Given the description of an element on the screen output the (x, y) to click on. 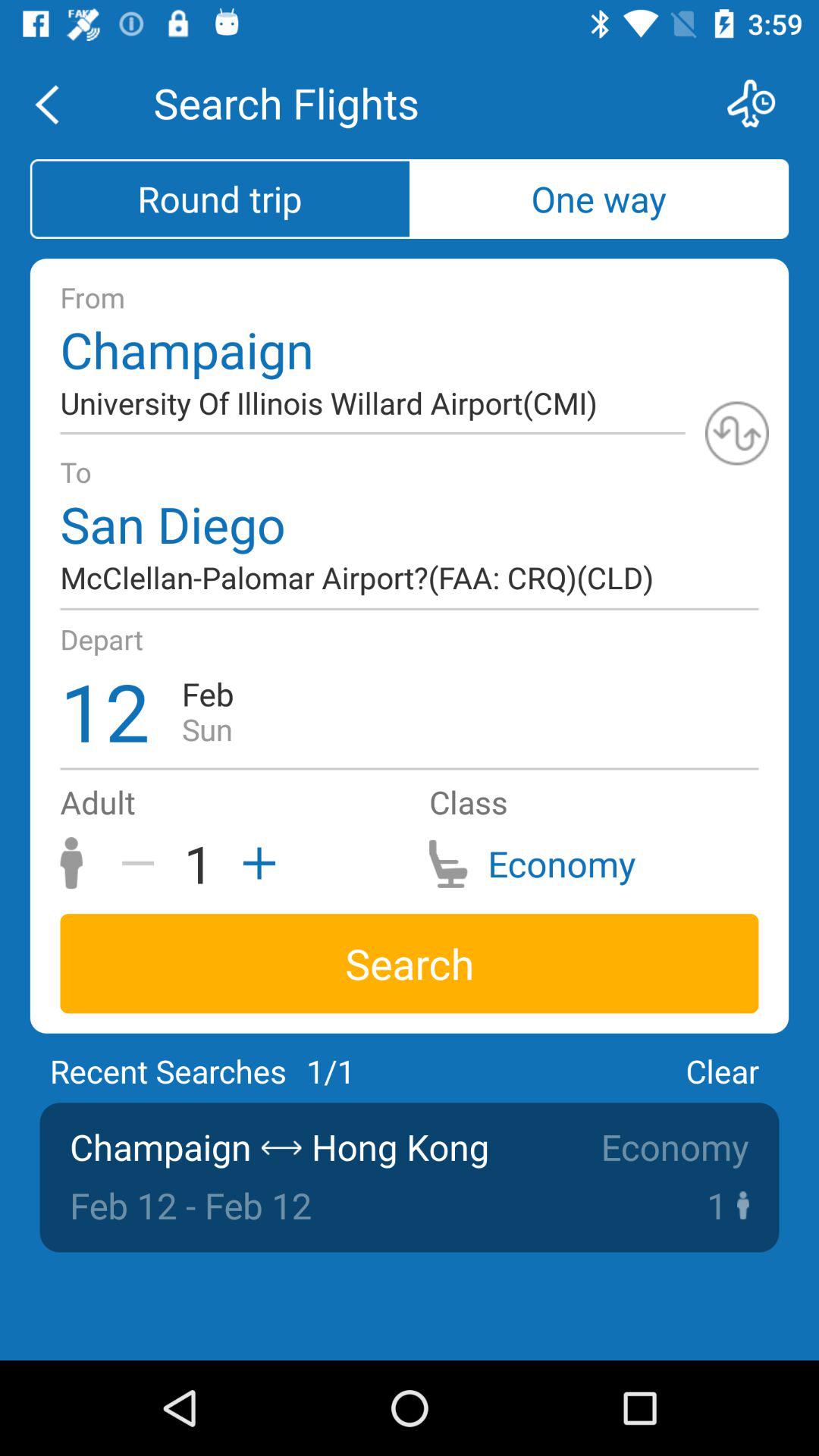
select clear item (722, 1070)
